Given the description of an element on the screen output the (x, y) to click on. 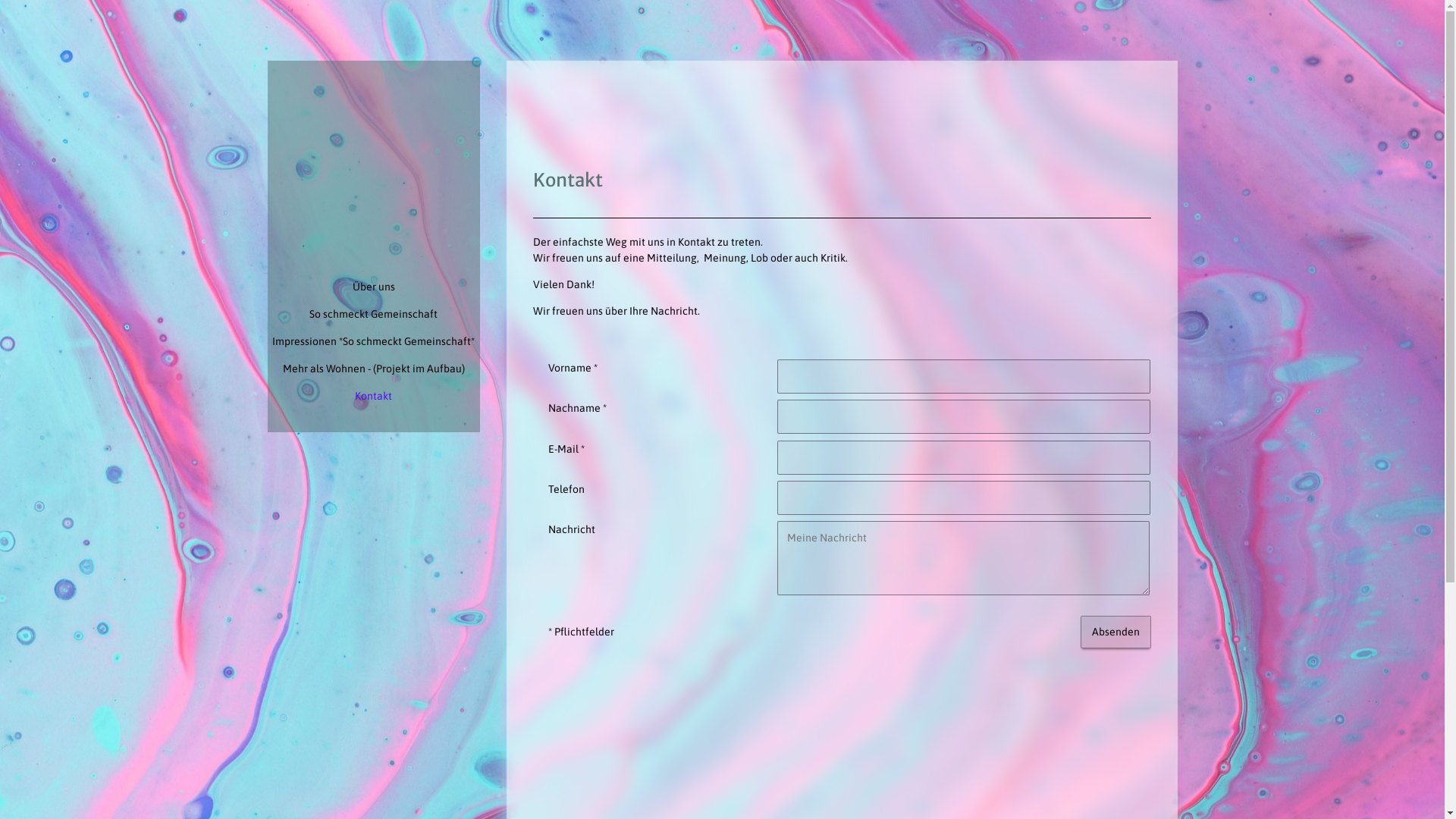
Absenden Element type: text (1114, 631)
Mehr als Wohnen - (Projekt im Aufbau) Element type: text (372, 368)
Impressionen *So schmeckt Gemeinschaft* Element type: text (372, 340)
Kontakt Element type: text (372, 395)
So schmeckt Gemeinschaft Element type: text (372, 313)
